Given the description of an element on the screen output the (x, y) to click on. 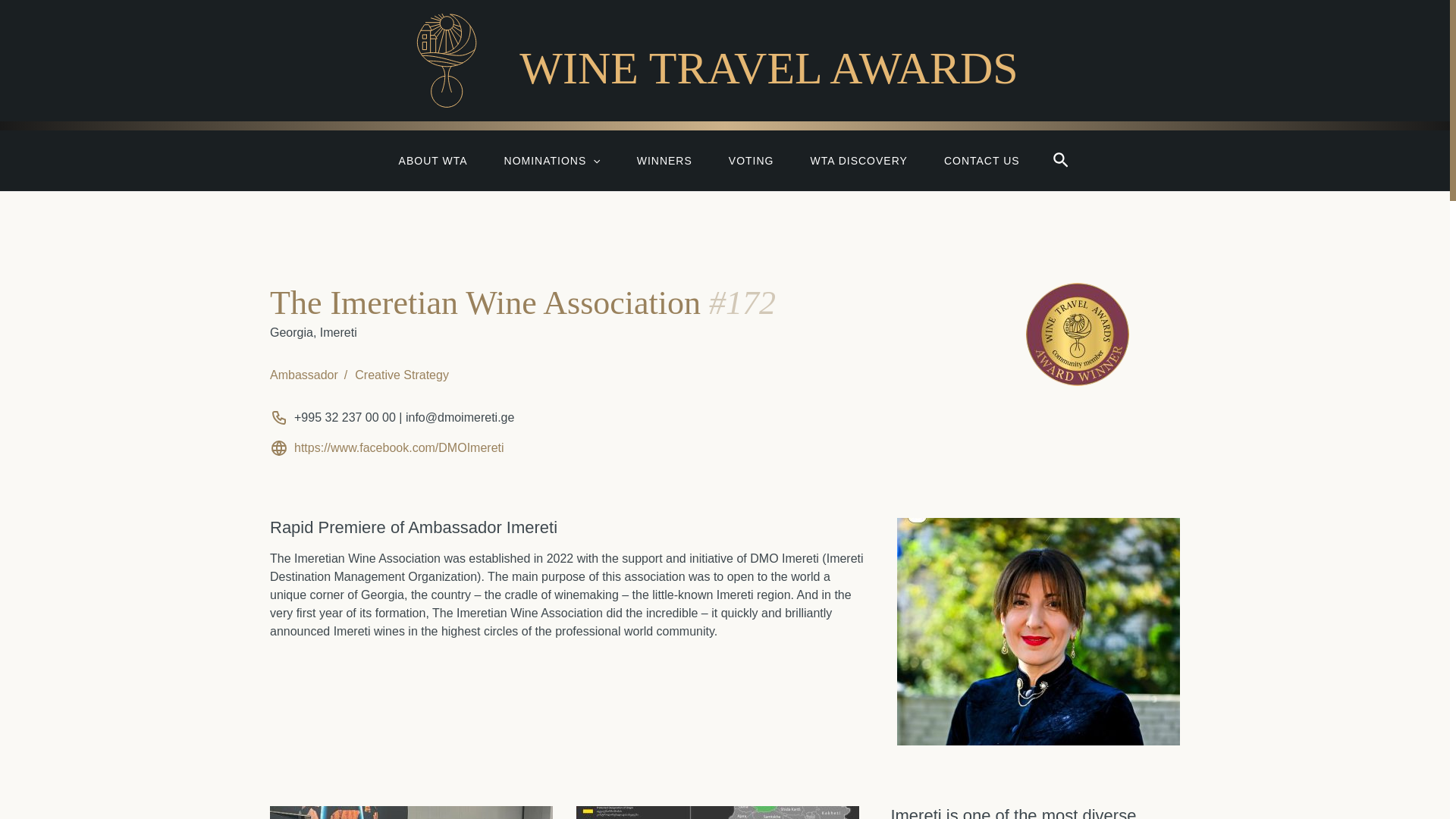
WINNERS (664, 160)
NOMINATIONS (552, 160)
ABOUT WTA (433, 160)
CONTACT US (982, 160)
VOTING (751, 160)
WTA DISCOVERY (858, 160)
